Given the description of an element on the screen output the (x, y) to click on. 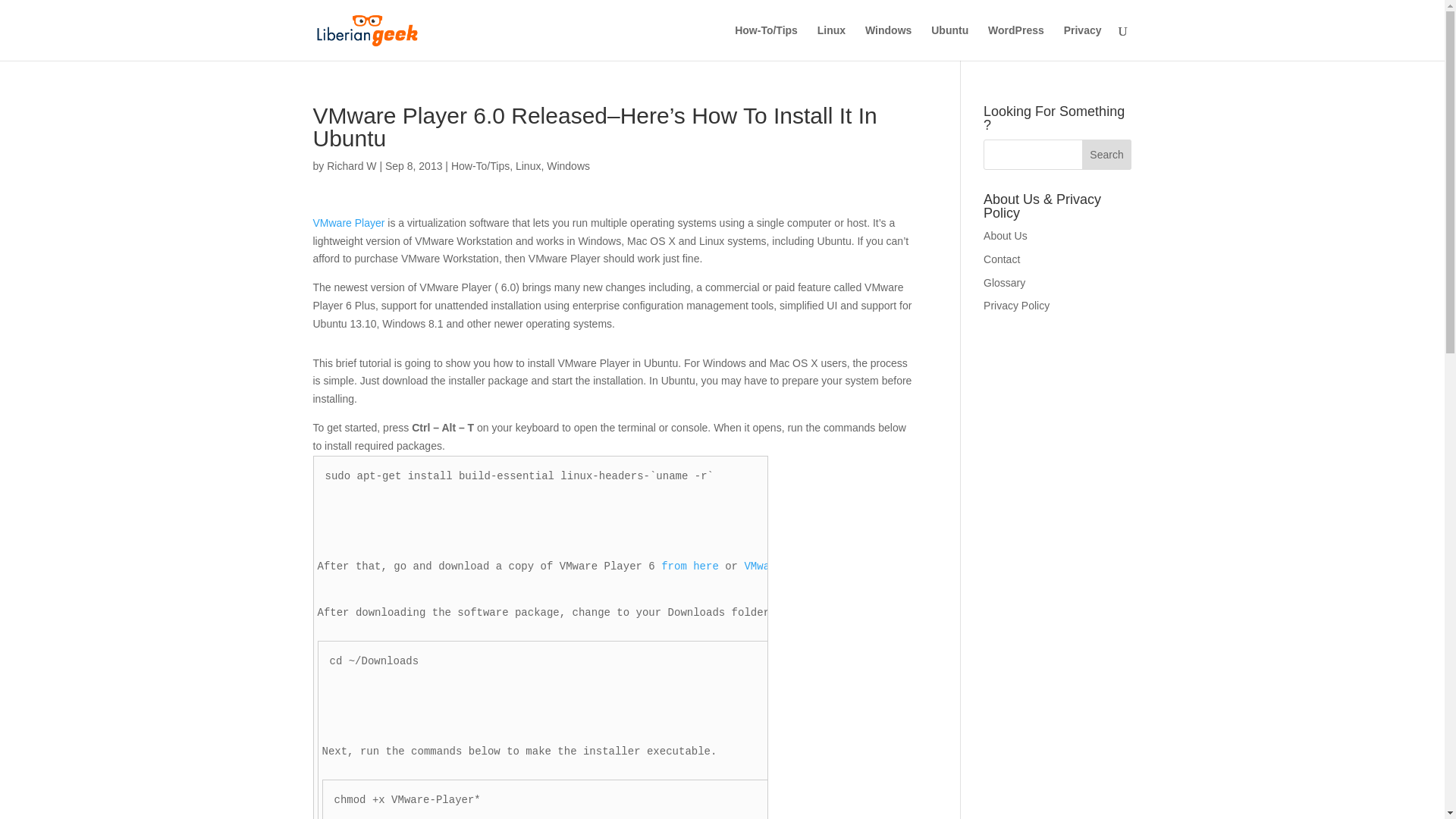
VMware Player (348, 223)
Linux (527, 165)
Search (1106, 154)
VMware software download page (836, 566)
WordPress (1015, 42)
Privacy Policy (1016, 305)
Richard W (350, 165)
from here (690, 566)
Contact (1002, 259)
Windows (568, 165)
Ubuntu Tutorials (949, 42)
Posts by Richard W (350, 165)
Windows (887, 42)
Search (1106, 154)
Ubuntu (949, 42)
